Given the description of an element on the screen output the (x, y) to click on. 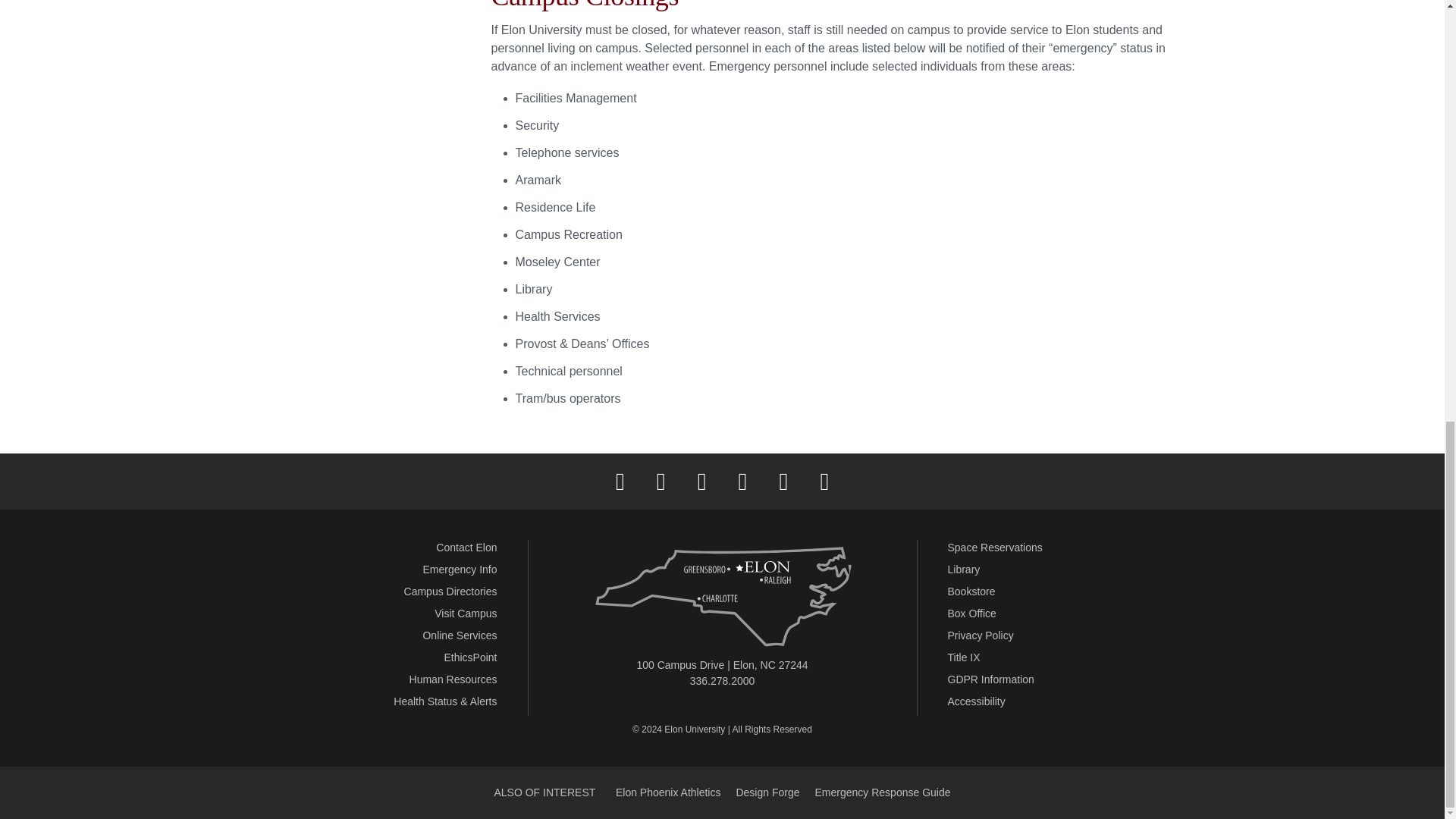
YouTube (783, 481)
Facebook (620, 481)
Instagram (701, 481)
Full Social Media List (824, 481)
LinkedIn (742, 481)
